Given the description of an element on the screen output the (x, y) to click on. 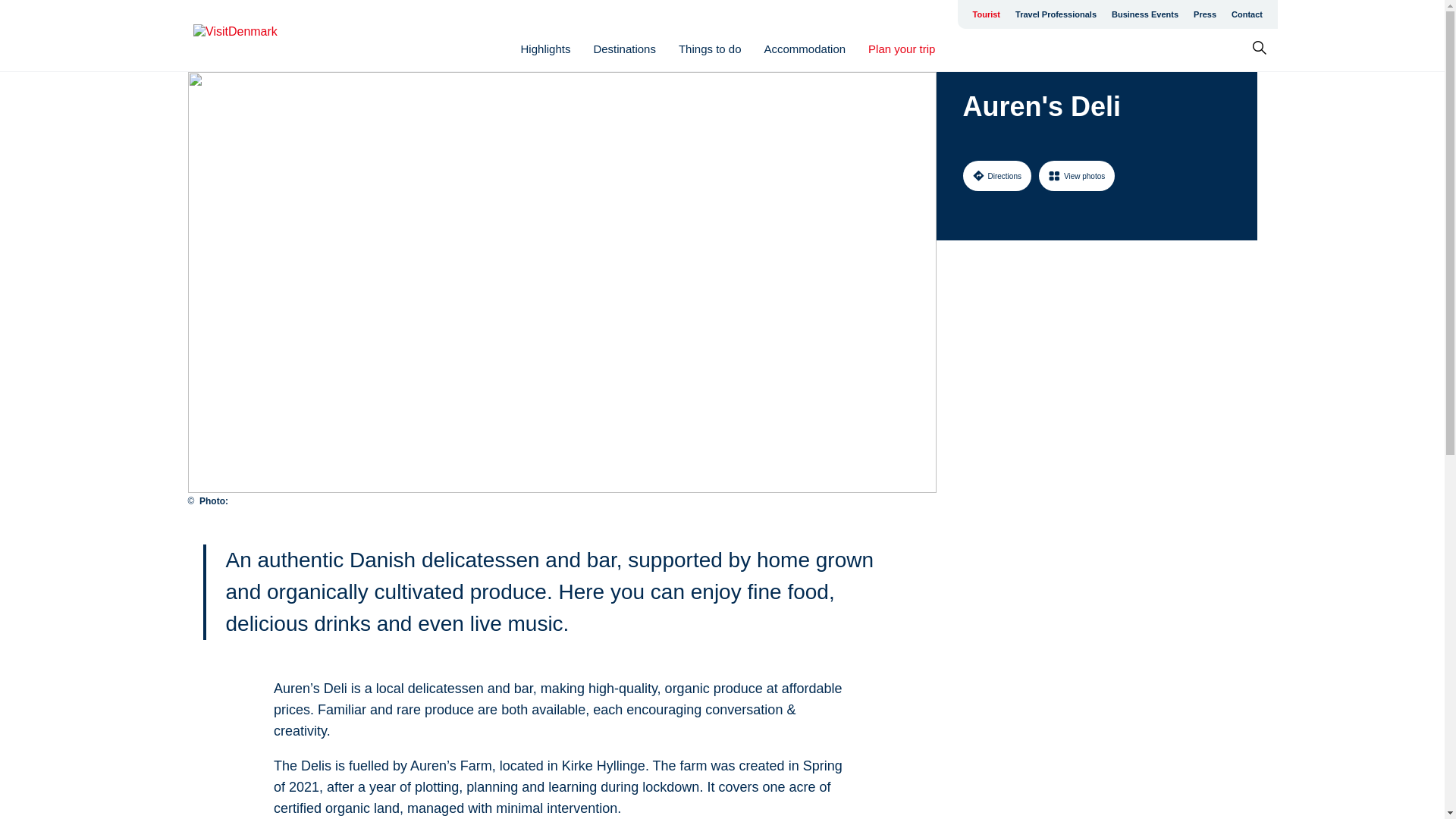
Go to homepage (253, 35)
Highlights (545, 48)
Contact (1246, 14)
View photos (1077, 175)
Directions (996, 175)
Business Events (1144, 14)
Tourist (986, 14)
Press (1205, 14)
Destinations (624, 48)
Things to do (709, 48)
Accommodation (804, 48)
Travel Professionals (1055, 14)
Plan your trip (900, 48)
